Given the description of an element on the screen output the (x, y) to click on. 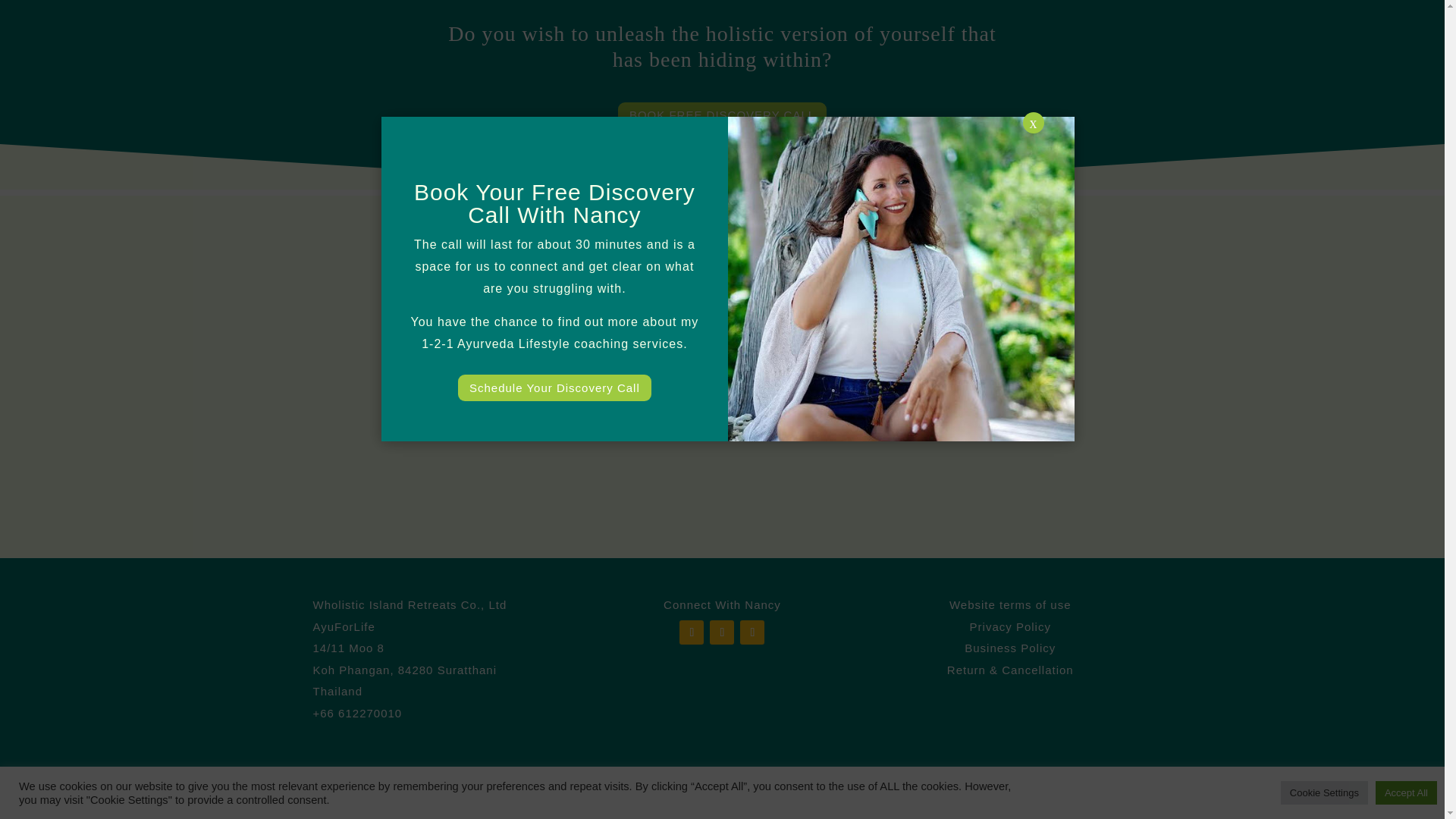
Follow on Instagram (721, 631)
Follow on Facebook (691, 631)
Submit (874, 385)
Follow on LinkedIn (751, 631)
